Given the description of an element on the screen output the (x, y) to click on. 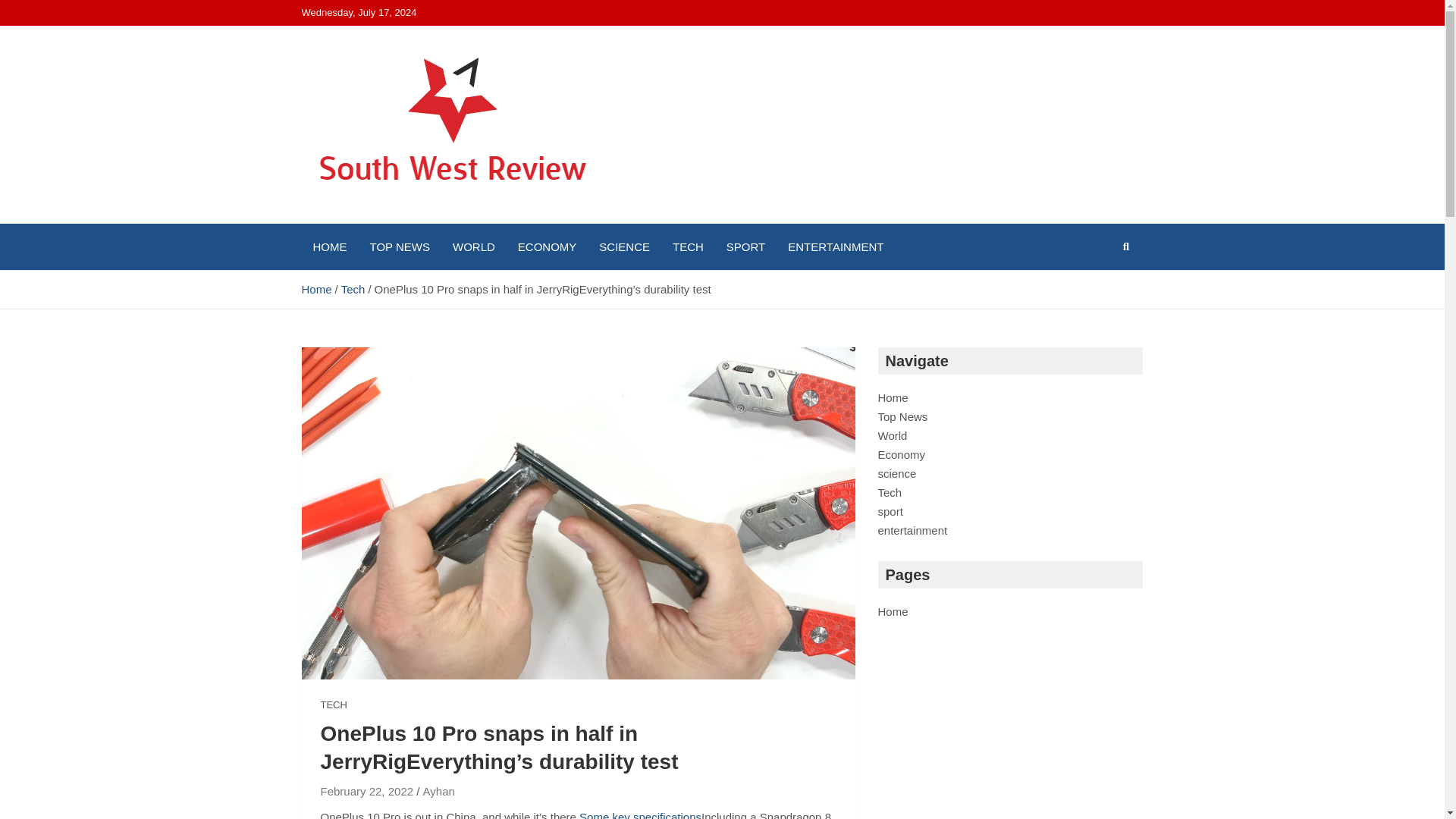
Home (316, 288)
Home (892, 397)
Tech (352, 288)
sport (889, 511)
SPORT (745, 246)
TECH (687, 246)
Top News (902, 416)
Tech (889, 492)
TOP NEWS (399, 246)
South West Review (440, 220)
Ayhan (438, 790)
World (892, 435)
ENTERTAINMENT (835, 246)
HOME (329, 246)
Home (892, 611)
